Given the description of an element on the screen output the (x, y) to click on. 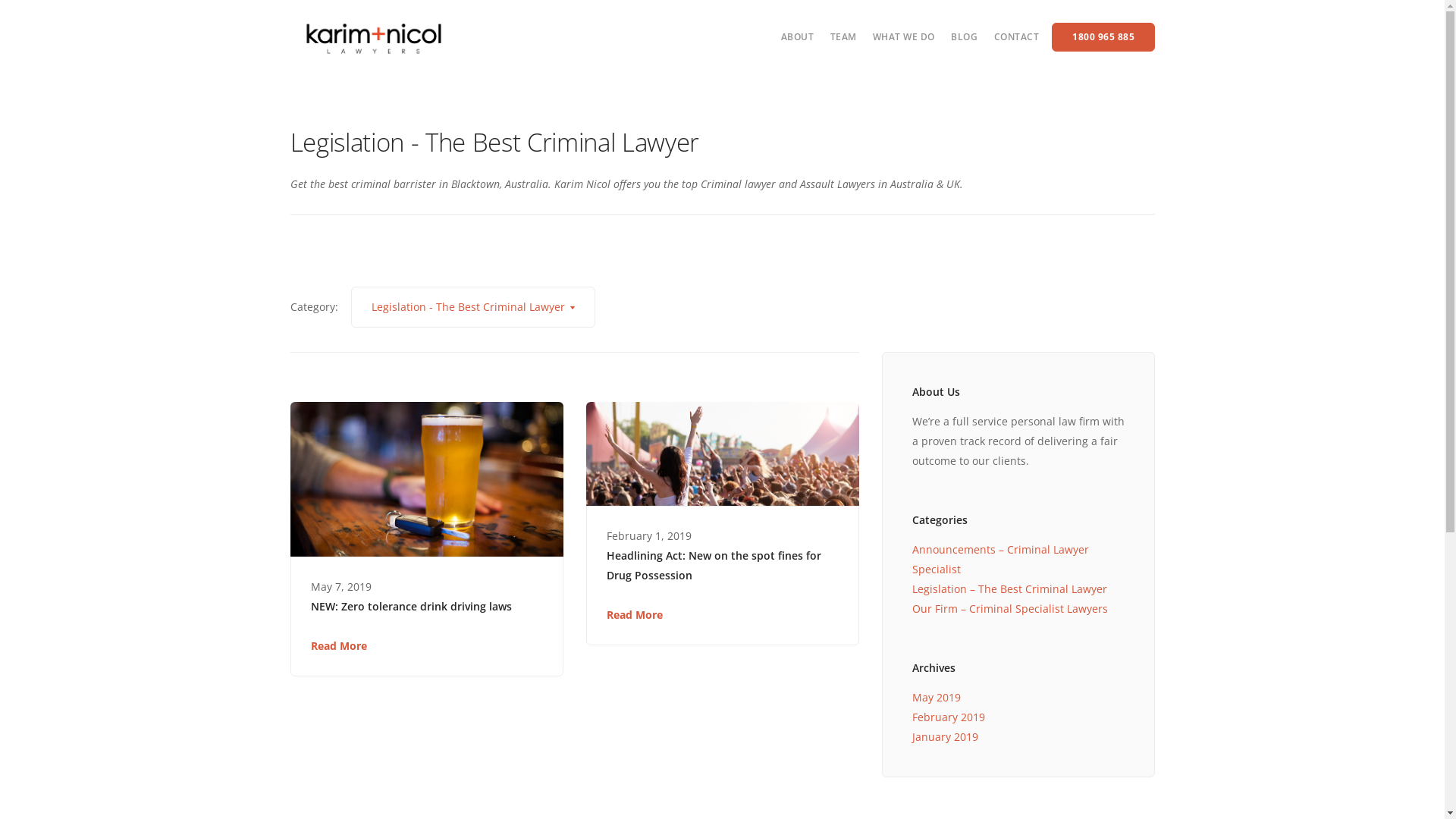
Headlining Act: New on the spot fines for Drug Possession Element type: text (722, 565)
BLOG Element type: text (963, 36)
Read More Element type: text (338, 645)
CONTACT Element type: text (1015, 36)
NEW: Zero tolerance drink driving laws Element type: text (426, 606)
1800 965 885 Element type: text (1102, 36)
May 2019 Element type: text (935, 697)
WHAT WE DO Element type: text (903, 36)
TEAM Element type: text (843, 36)
ABOUT Element type: text (797, 36)
Read More Element type: text (634, 614)
January 2019 Element type: text (944, 736)
February 2019 Element type: text (947, 716)
